Given the description of an element on the screen output the (x, y) to click on. 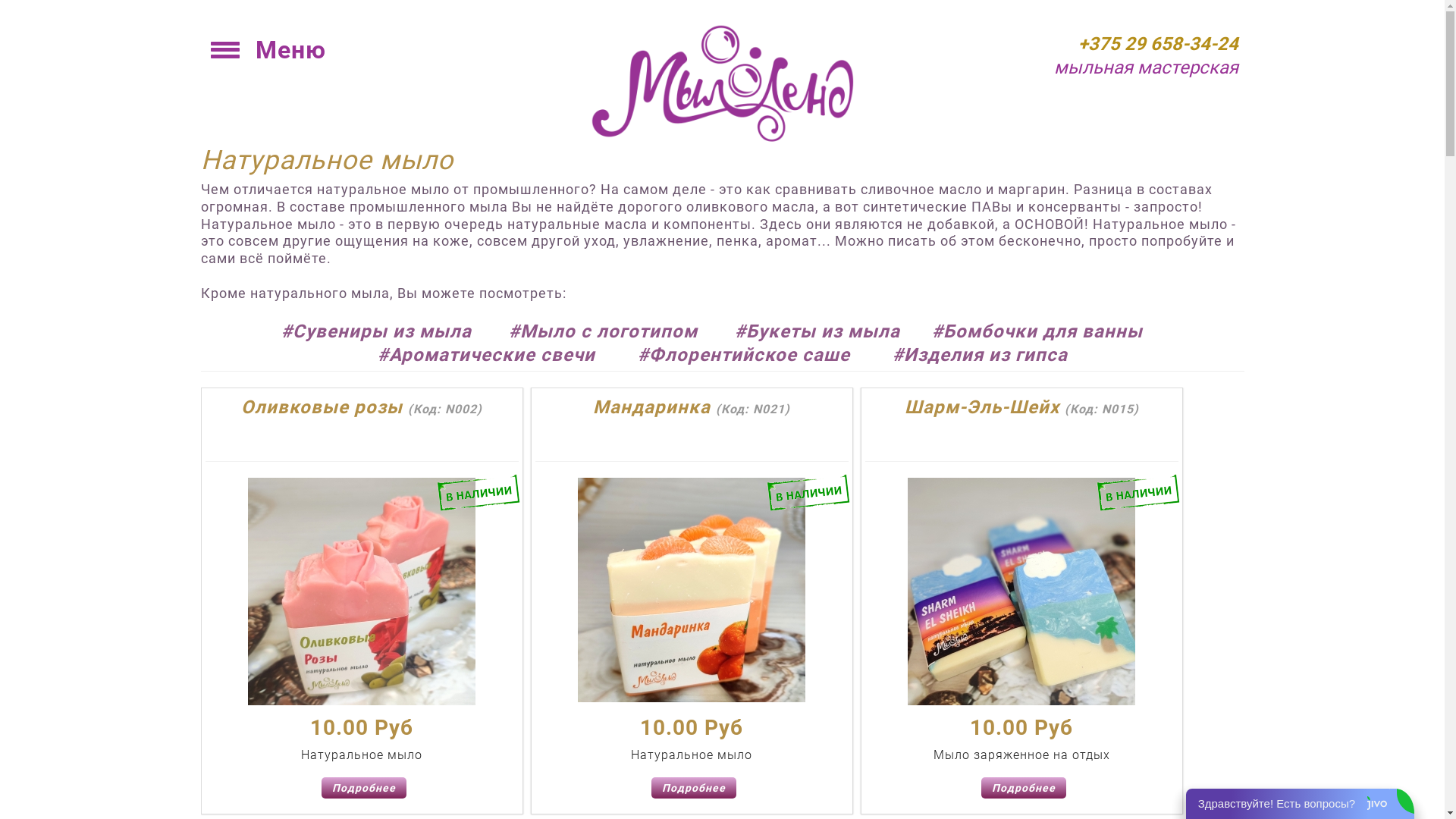
+375 29 658-34-24 Element type: text (1158, 43)
